Given the description of an element on the screen output the (x, y) to click on. 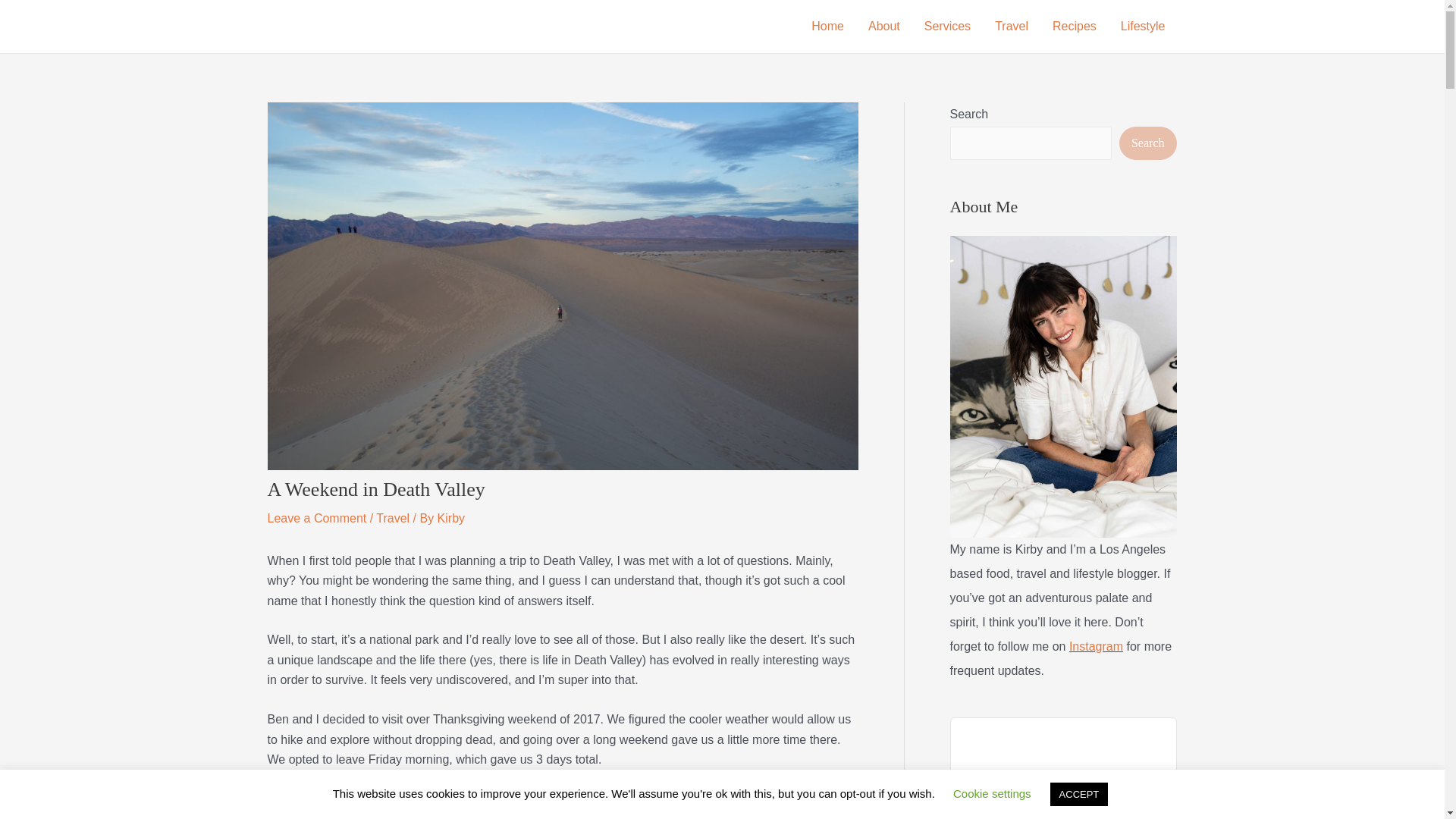
Travel (1011, 26)
Travel (392, 517)
Recipes (1074, 26)
Services (947, 26)
Leave a Comment (316, 517)
Home (827, 26)
Kirby (451, 517)
Lifestyle (1142, 26)
View all posts by Kirby (451, 517)
Instagram (1095, 645)
